Given the description of an element on the screen output the (x, y) to click on. 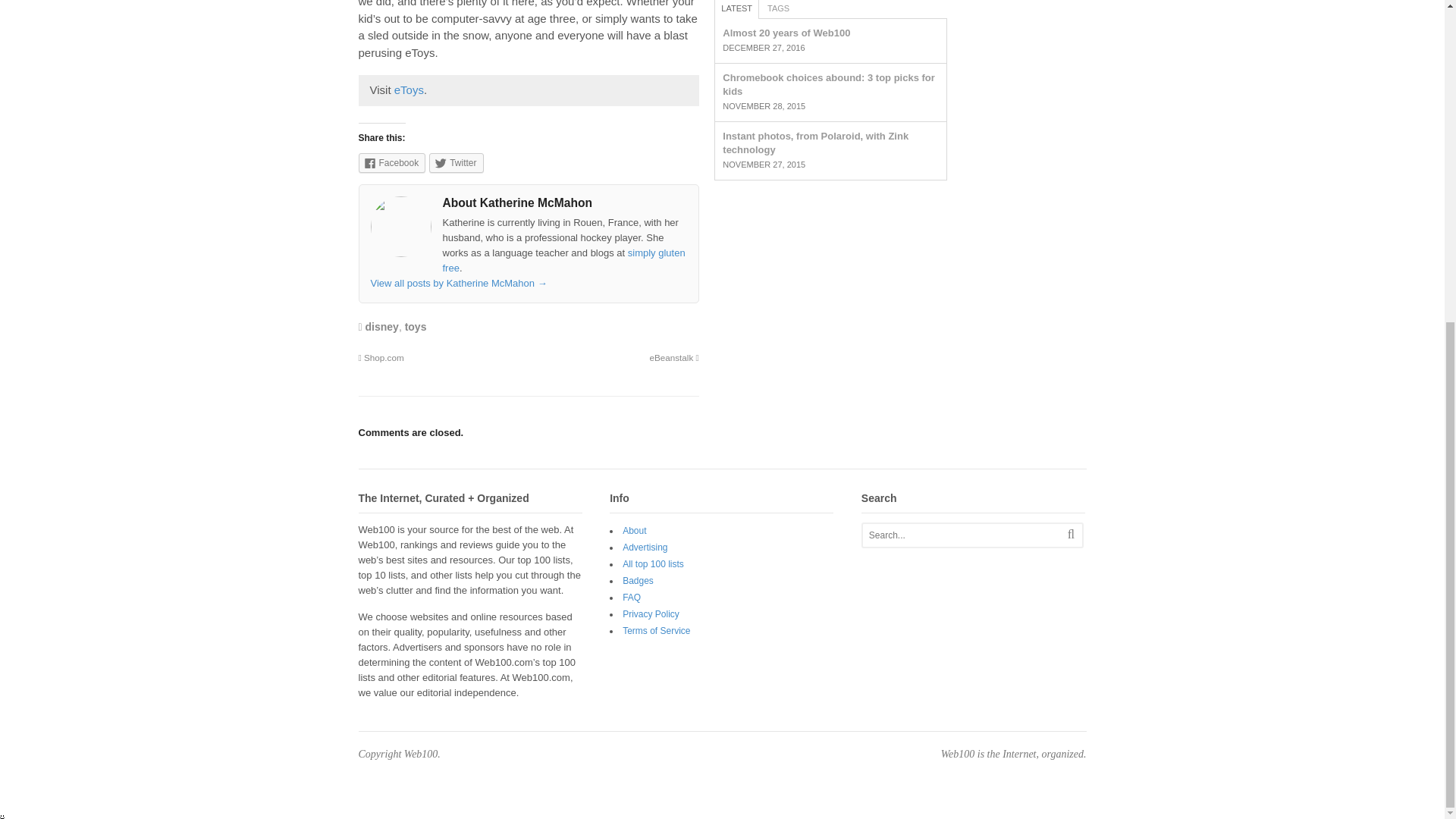
Almost 20 years of Web100 (786, 32)
Chromebook choices abound: 3 top picks for kids (828, 84)
Click to share on Twitter (456, 162)
Click to share on Facebook (391, 162)
Instant photos, from Polaroid, with Zink technology (815, 142)
Search... (962, 535)
